Given the description of an element on the screen output the (x, y) to click on. 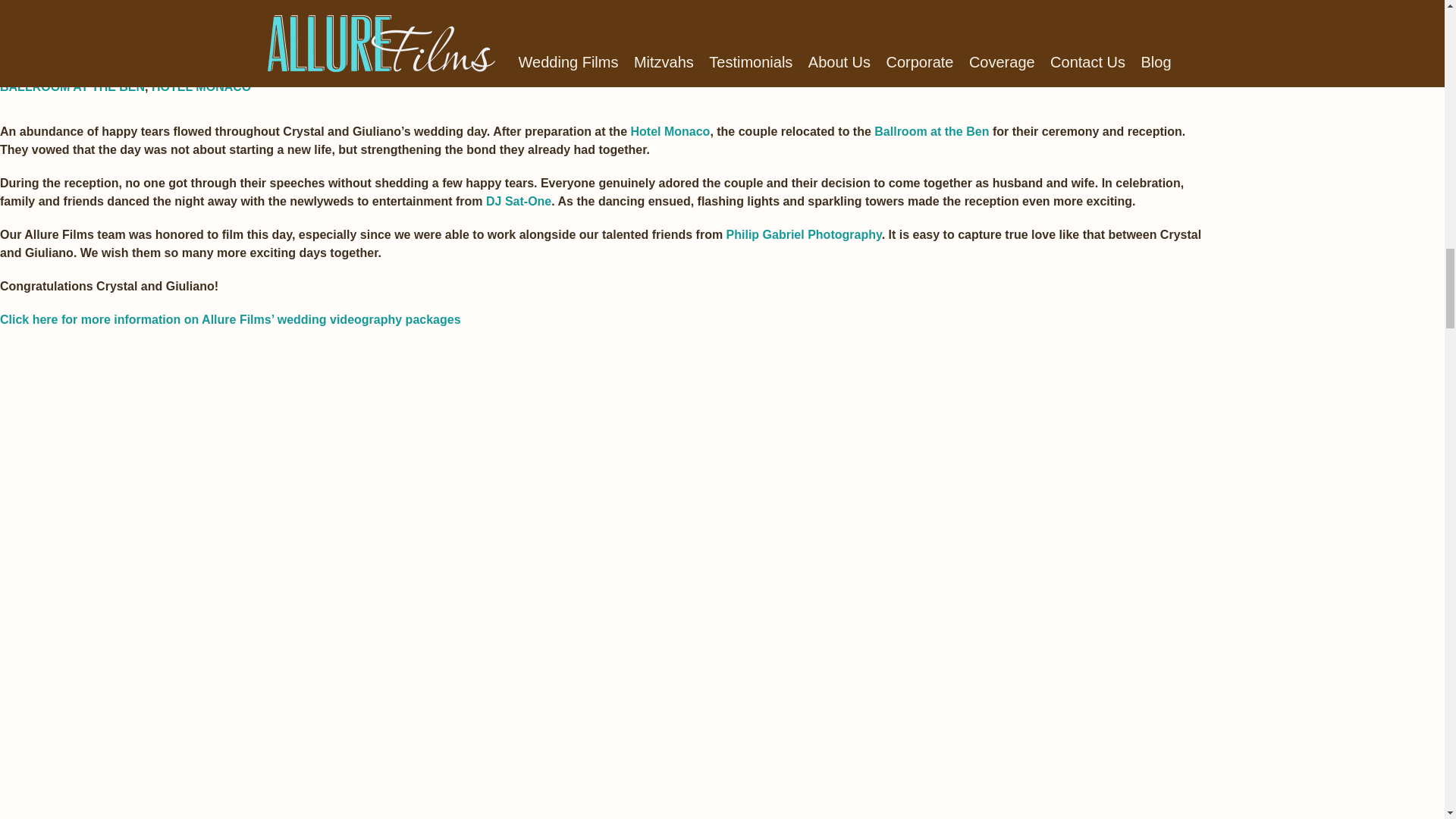
BALLROOM AT THE BEN (72, 86)
Ballroom at the Ben (931, 131)
DJ Sat-One (518, 201)
HOTEL MONACO (200, 86)
A Glistening Wedding at the Ballroom at the Ben (243, 32)
Philip Gabriel Photography (804, 234)
Hotel Monaco (670, 131)
